Given the description of an element on the screen output the (x, y) to click on. 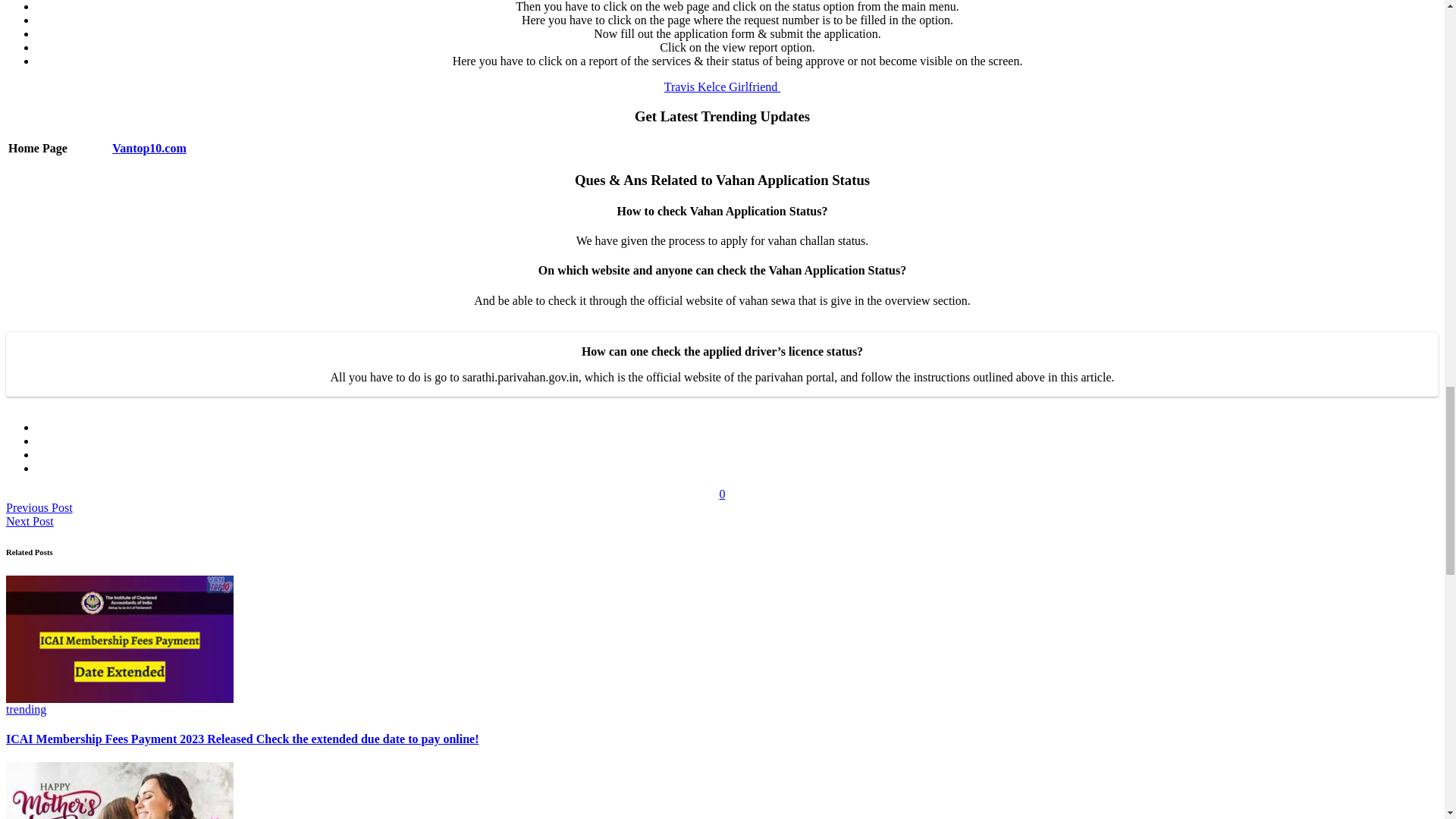
trending (25, 708)
Previous Post (38, 507)
Vantop10.com (149, 147)
Next Post (29, 521)
Travis Kelce Girlfriend  (721, 86)
